Given the description of an element on the screen output the (x, y) to click on. 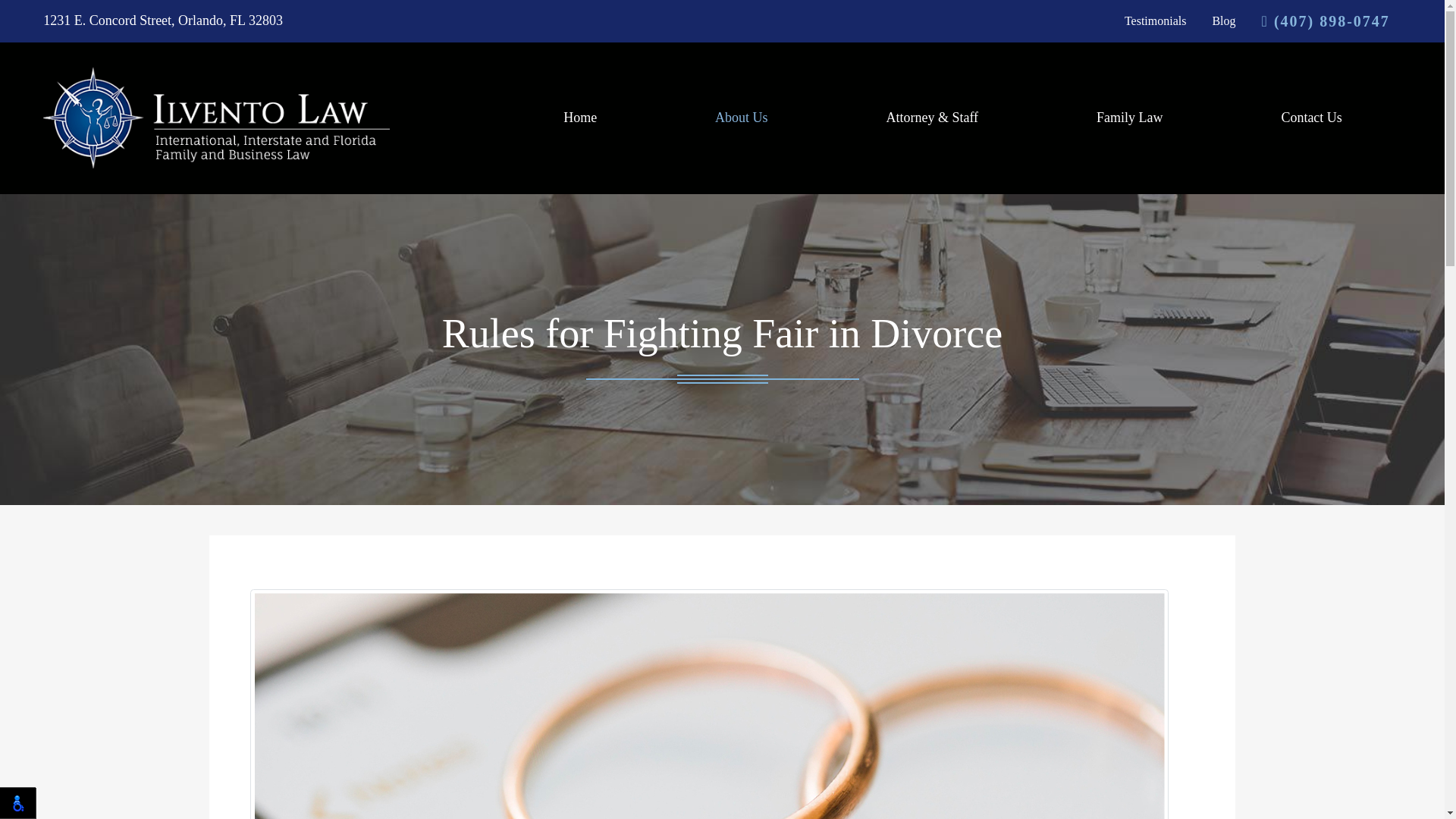
About Us (741, 118)
Blog (1222, 21)
Home (579, 118)
Home (579, 118)
Family Law (1128, 118)
Contact Us (1310, 118)
Testimonials (1155, 21)
Family Law (1128, 118)
Contact Us (1310, 118)
About Us (741, 118)
